Given the description of an element on the screen output the (x, y) to click on. 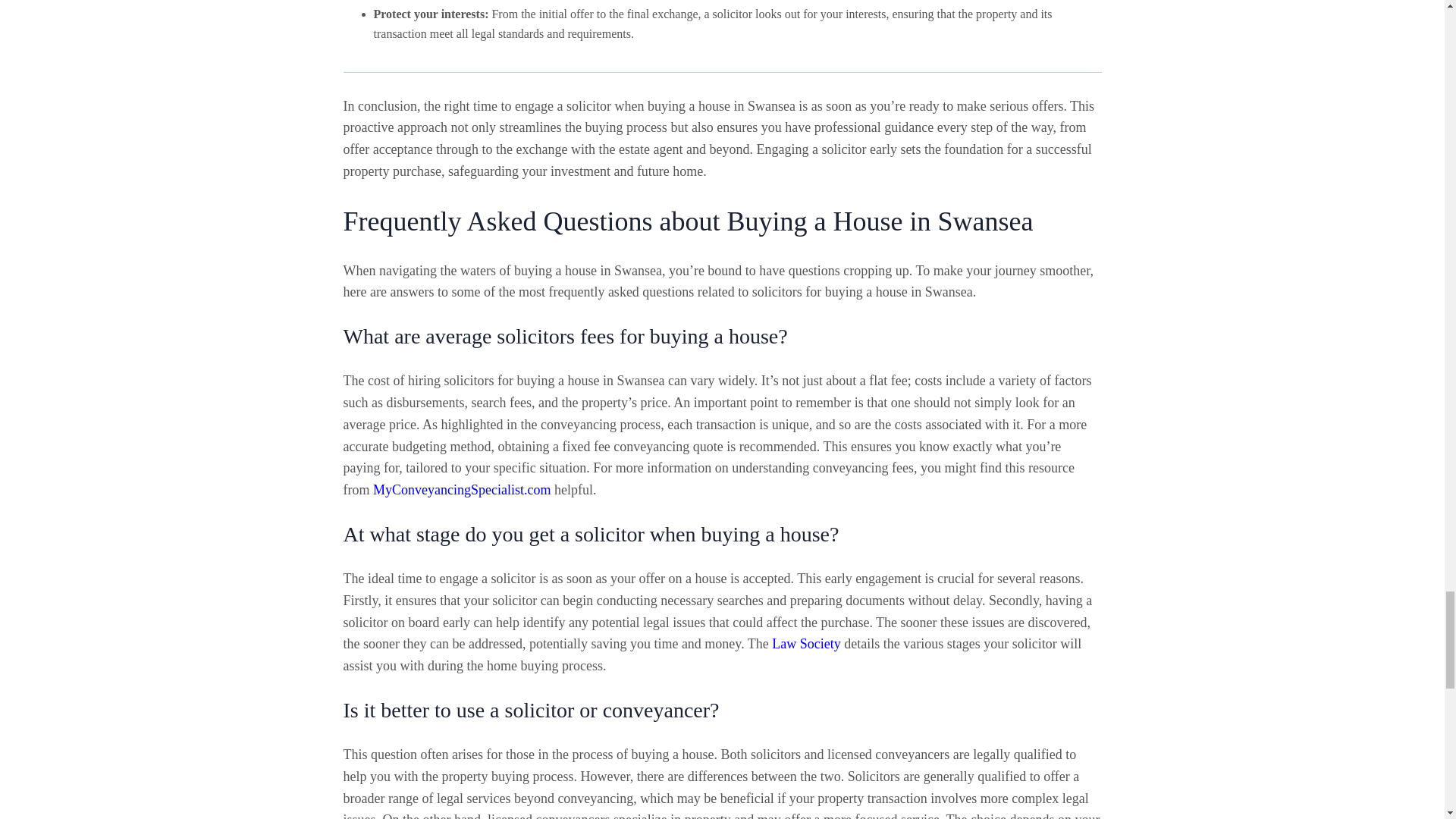
MyConveyancingSpecialist.com (461, 489)
Law Society (805, 643)
